Given the description of an element on the screen output the (x, y) to click on. 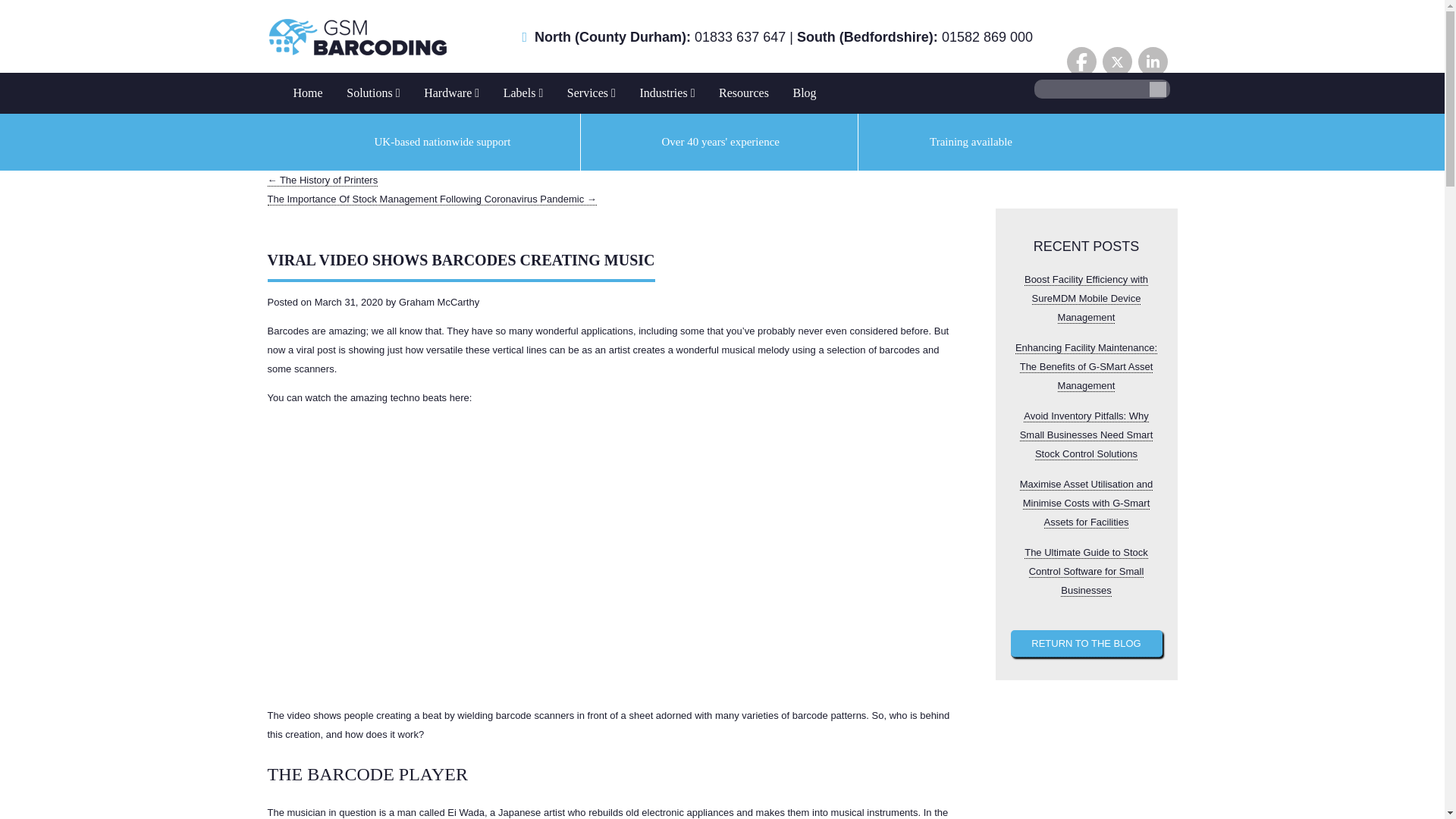
View all posts by Graham McCarthy (438, 301)
Services (591, 92)
Search (1158, 89)
2:16 pm (348, 301)
Labels (523, 92)
Barcoders Jamming (614, 553)
Solutions (373, 92)
Hardware (451, 92)
Home (307, 92)
